Given the description of an element on the screen output the (x, y) to click on. 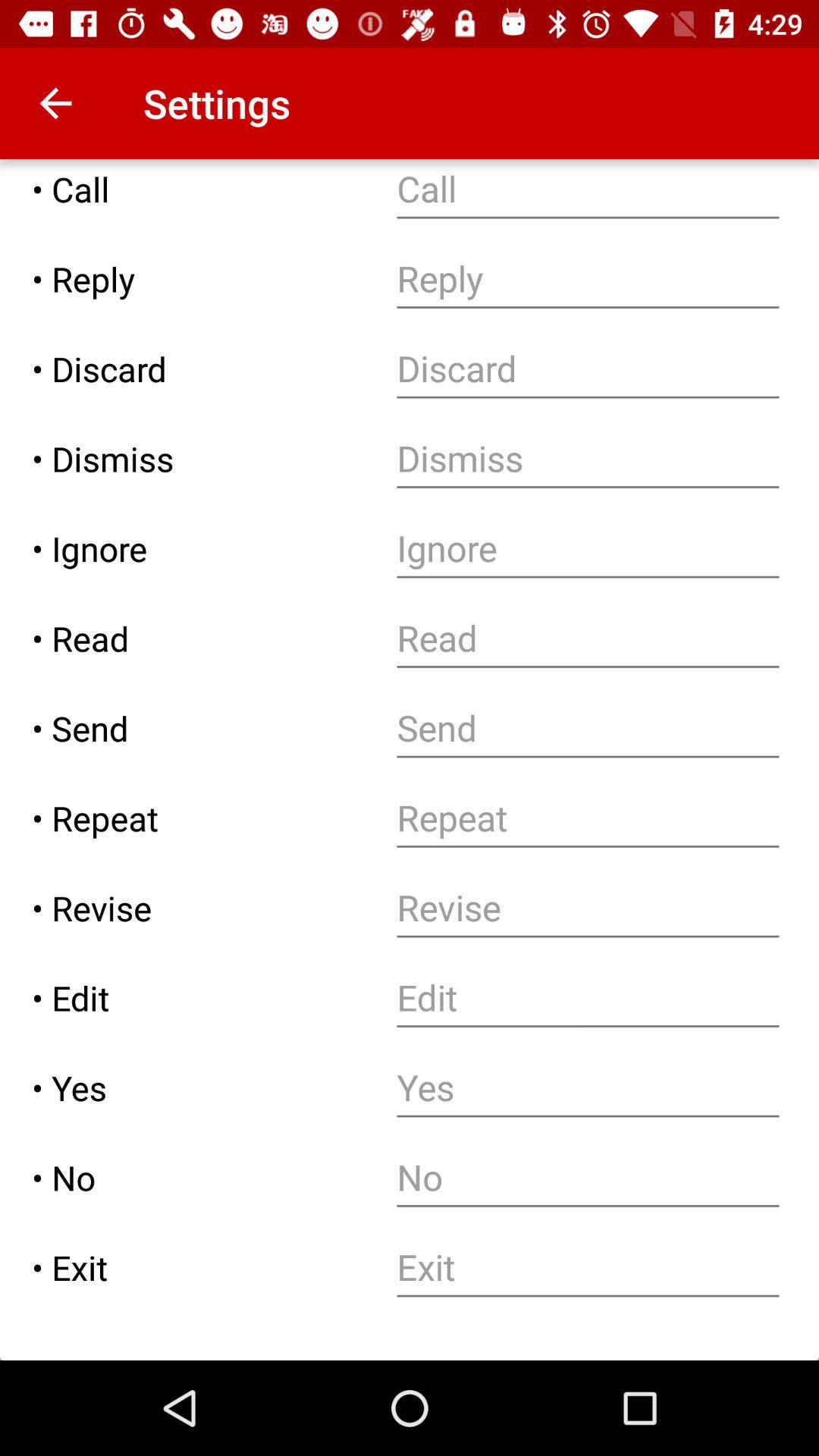
exit this screen option (588, 1267)
